Given the description of an element on the screen output the (x, y) to click on. 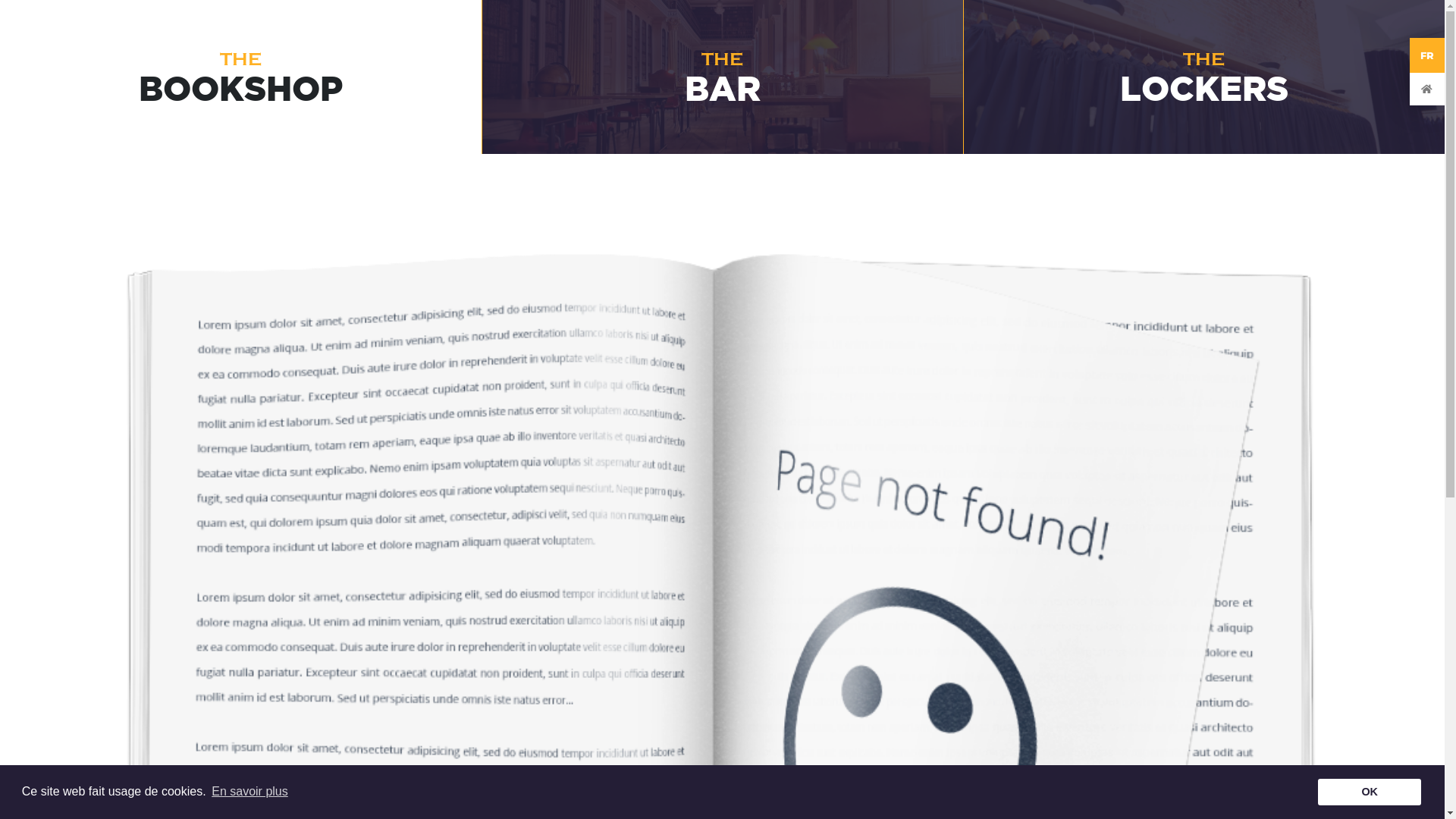
En savoir plus Element type: text (249, 791)
THE
LOCKERS Element type: text (1203, 76)
FR Element type: text (1426, 54)
THE
BAR Element type: text (722, 76)
OK Element type: text (1369, 791)
THE
BOOKSHOP Element type: text (240, 76)
